Given the description of an element on the screen output the (x, y) to click on. 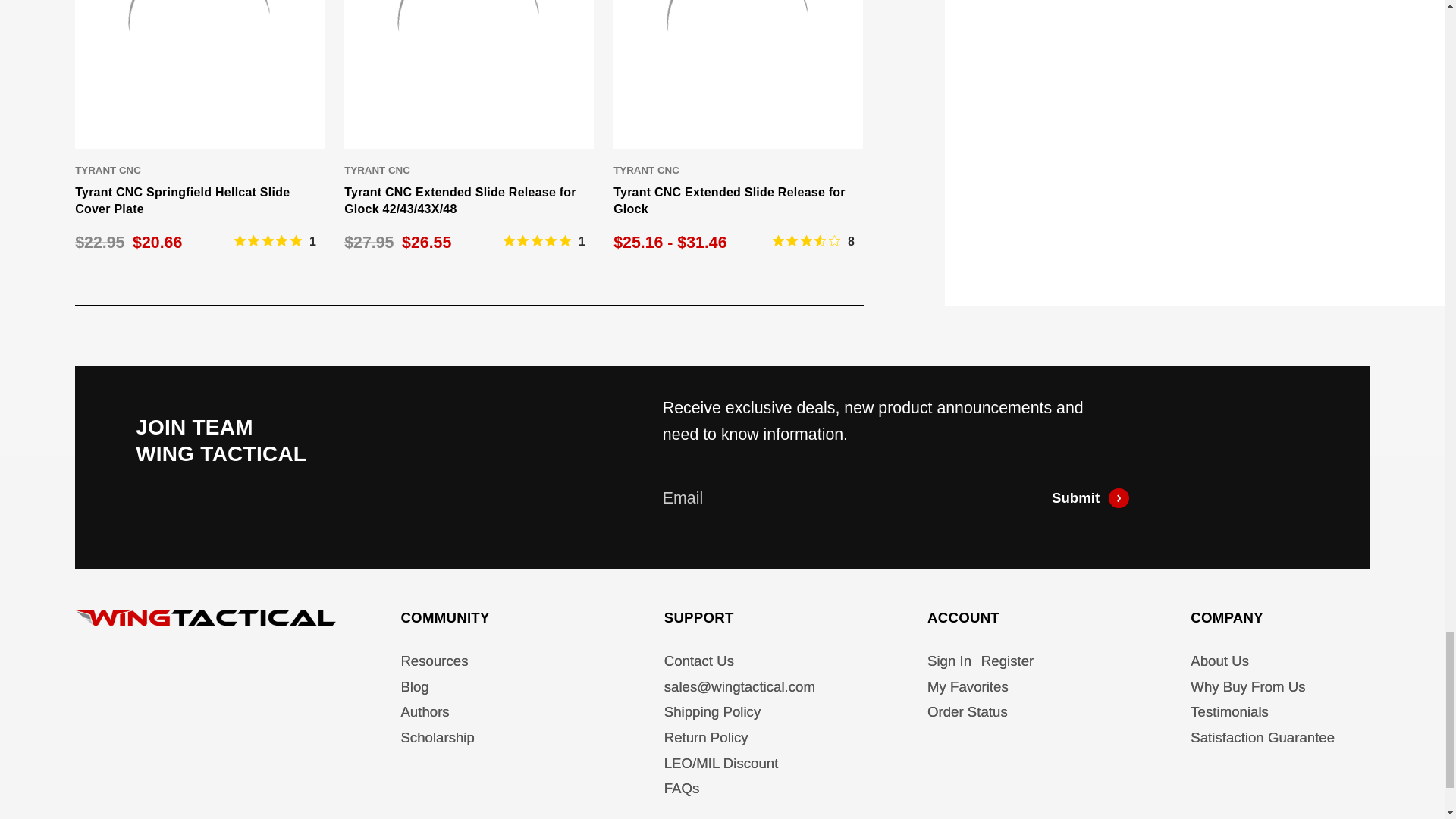
1 (544, 241)
8 (813, 241)
1 (274, 241)
